Given the description of an element on the screen output the (x, y) to click on. 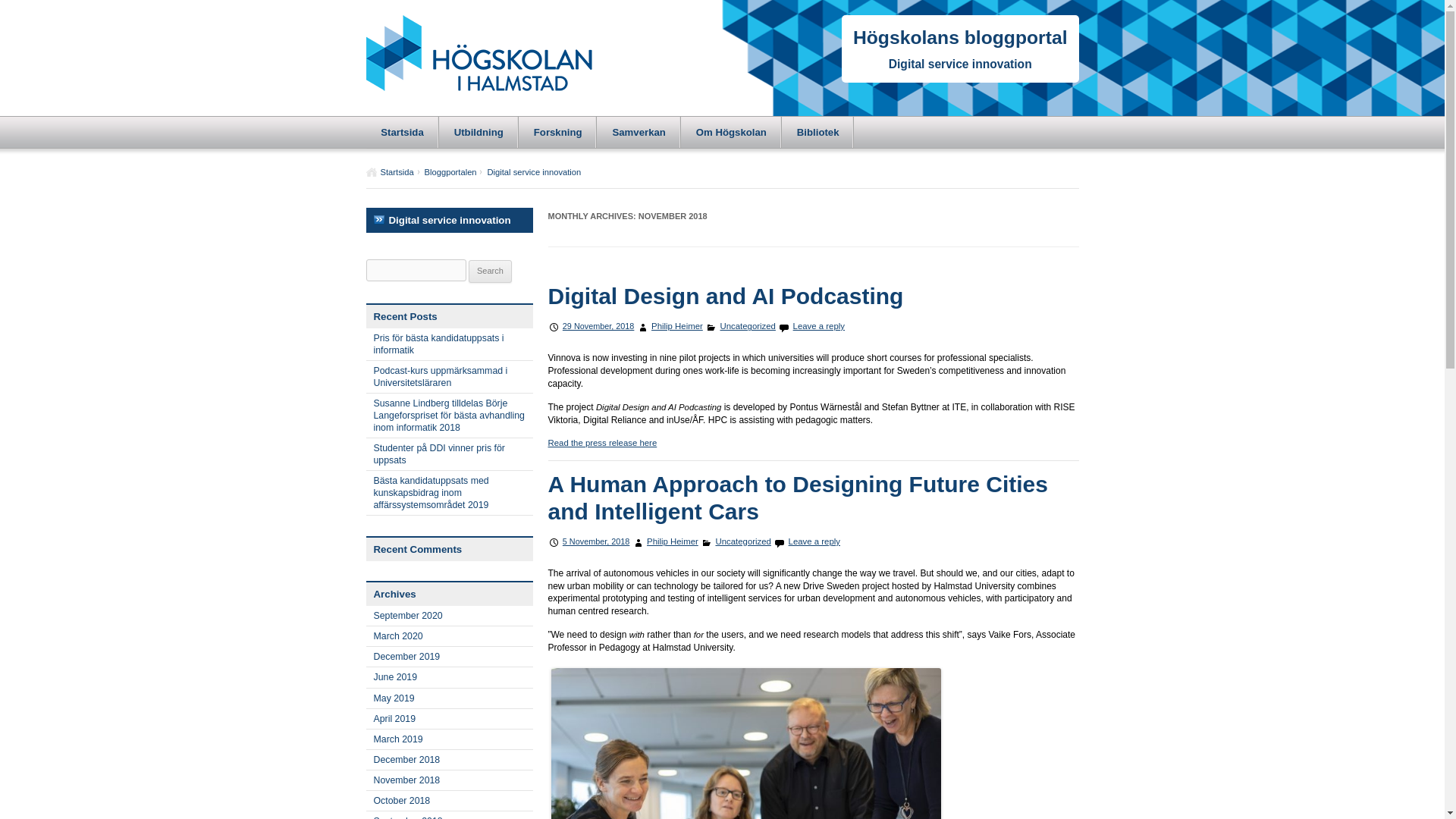
Philip Heimer (676, 325)
Search (490, 271)
June 2019 (448, 677)
September 2020 (448, 615)
Digital service innovation (960, 64)
View all posts by Philip Heimer (676, 325)
Samverkan (638, 132)
Read the press release here (601, 442)
15:48 (598, 325)
Uncategorized (746, 325)
Startsida (389, 171)
View all posts by Philip Heimer (672, 541)
Leave a reply (818, 325)
5 November, 2018 (596, 541)
